Given the description of an element on the screen output the (x, y) to click on. 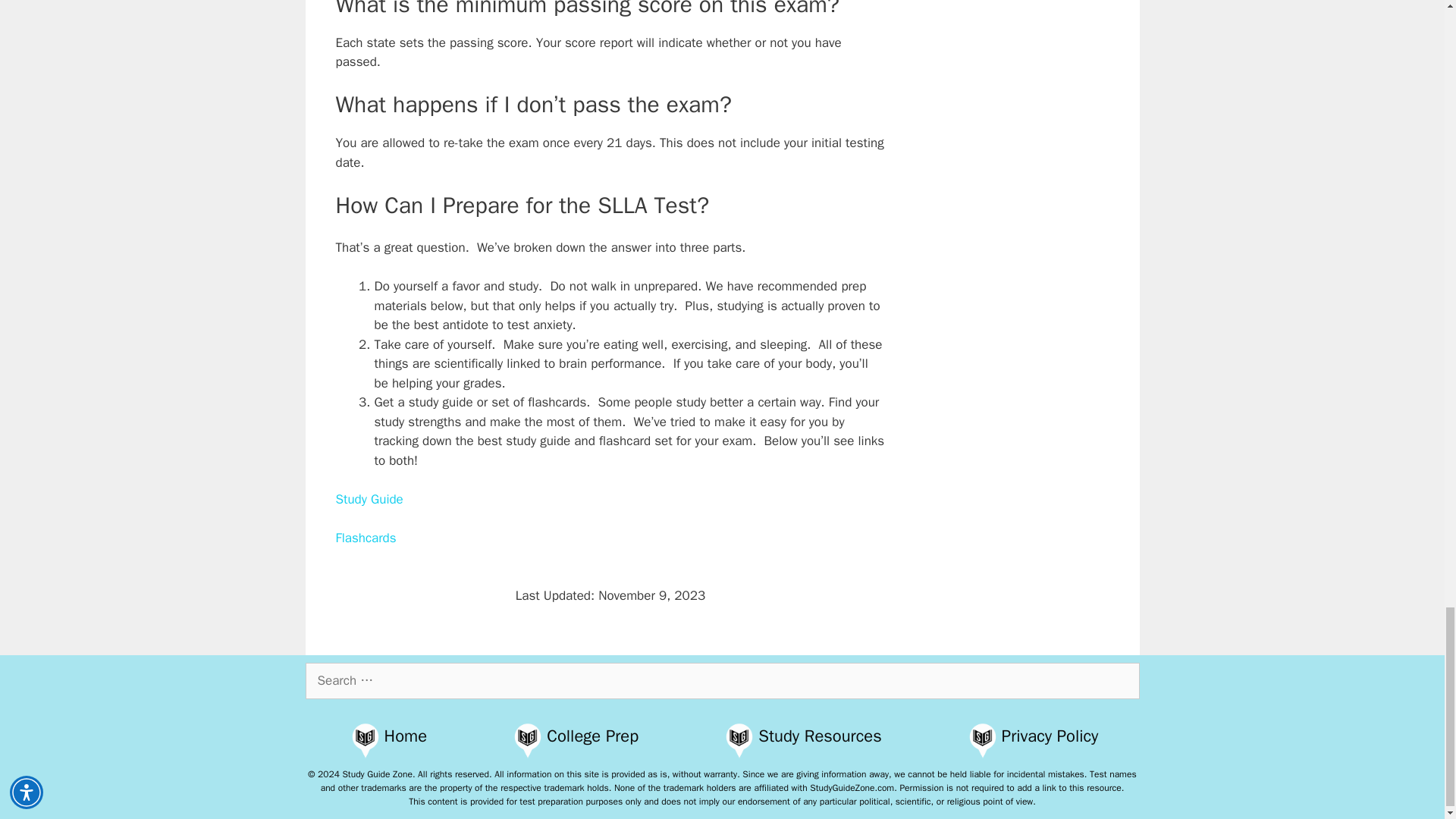
Study Guide (368, 498)
College Prep (593, 735)
Flashcards (365, 537)
Search for: (721, 680)
Home (406, 735)
Privacy Policy (1050, 735)
Study Resources (819, 735)
